Given the description of an element on the screen output the (x, y) to click on. 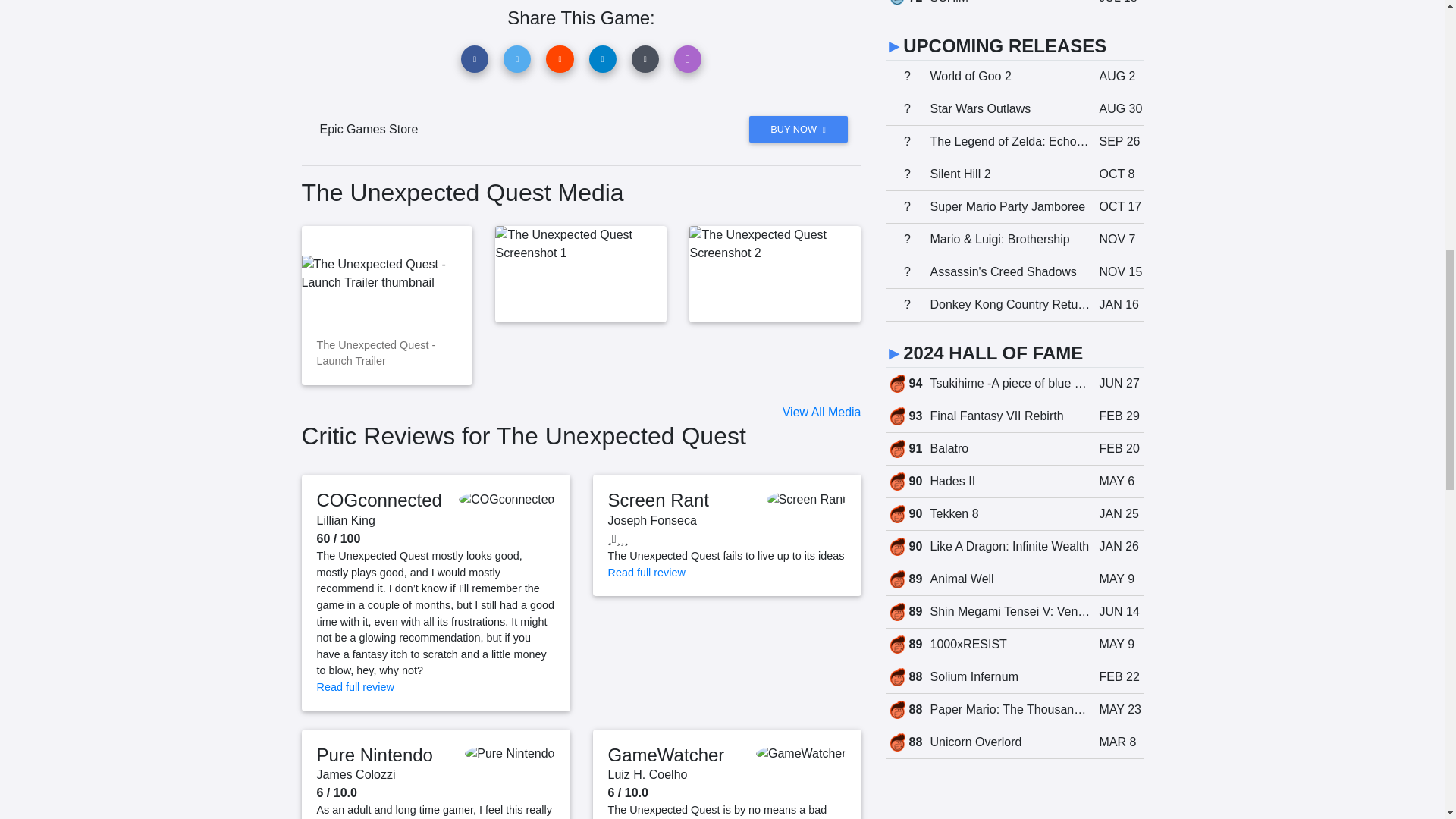
Lillian King (346, 520)
Screen Rant (658, 499)
Read full review (646, 572)
Joseph Fonseca (652, 520)
Read full review (355, 686)
James Colozzi (356, 774)
View All Media (822, 411)
COGconnected (379, 499)
BUY NOW (798, 129)
Pure Nintendo (374, 754)
